Given the description of an element on the screen output the (x, y) to click on. 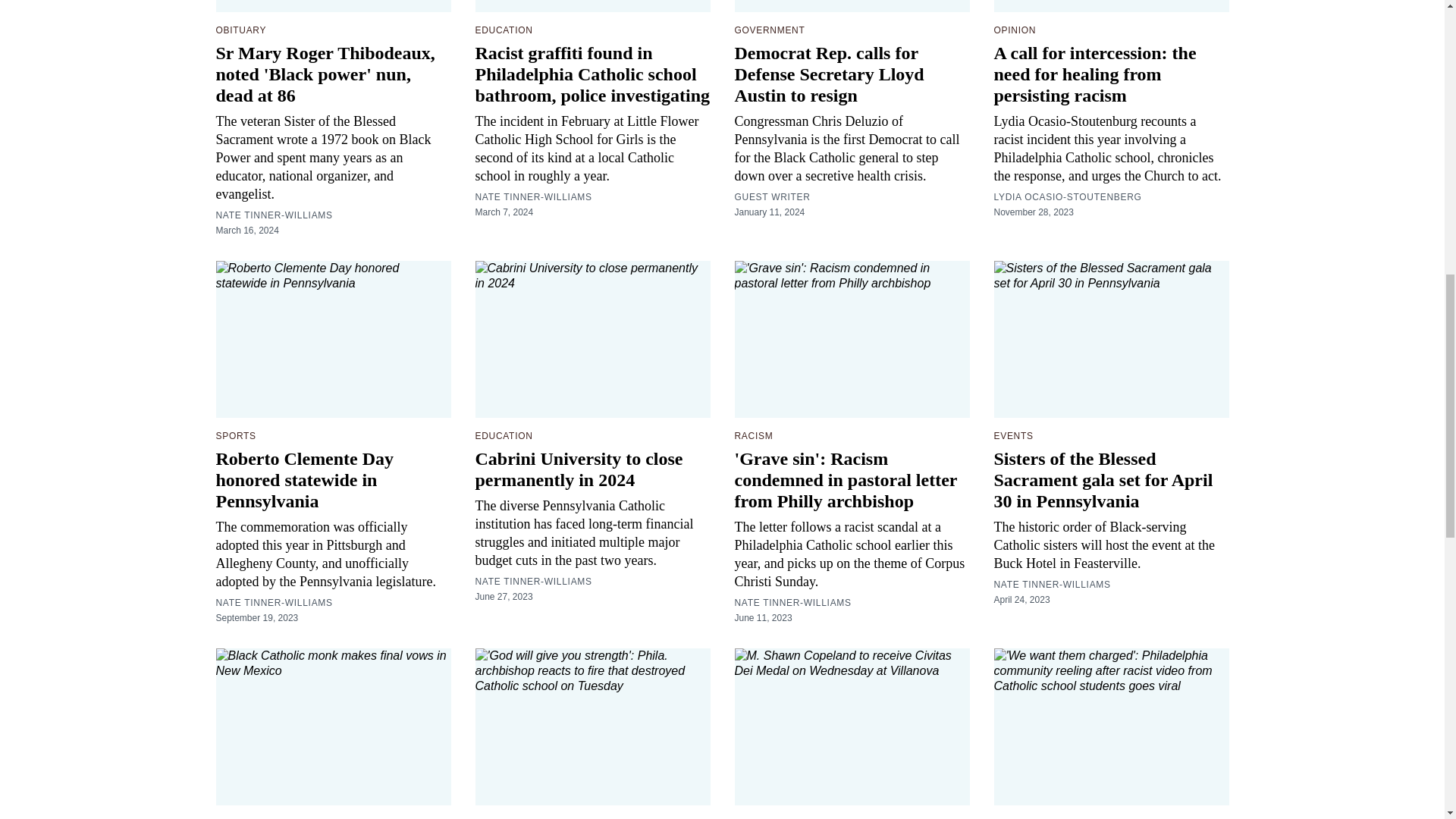
NATE TINNER-WILLIAMS (273, 215)
OBITUARY (240, 30)
EDUCATION (503, 30)
